Given the description of an element on the screen output the (x, y) to click on. 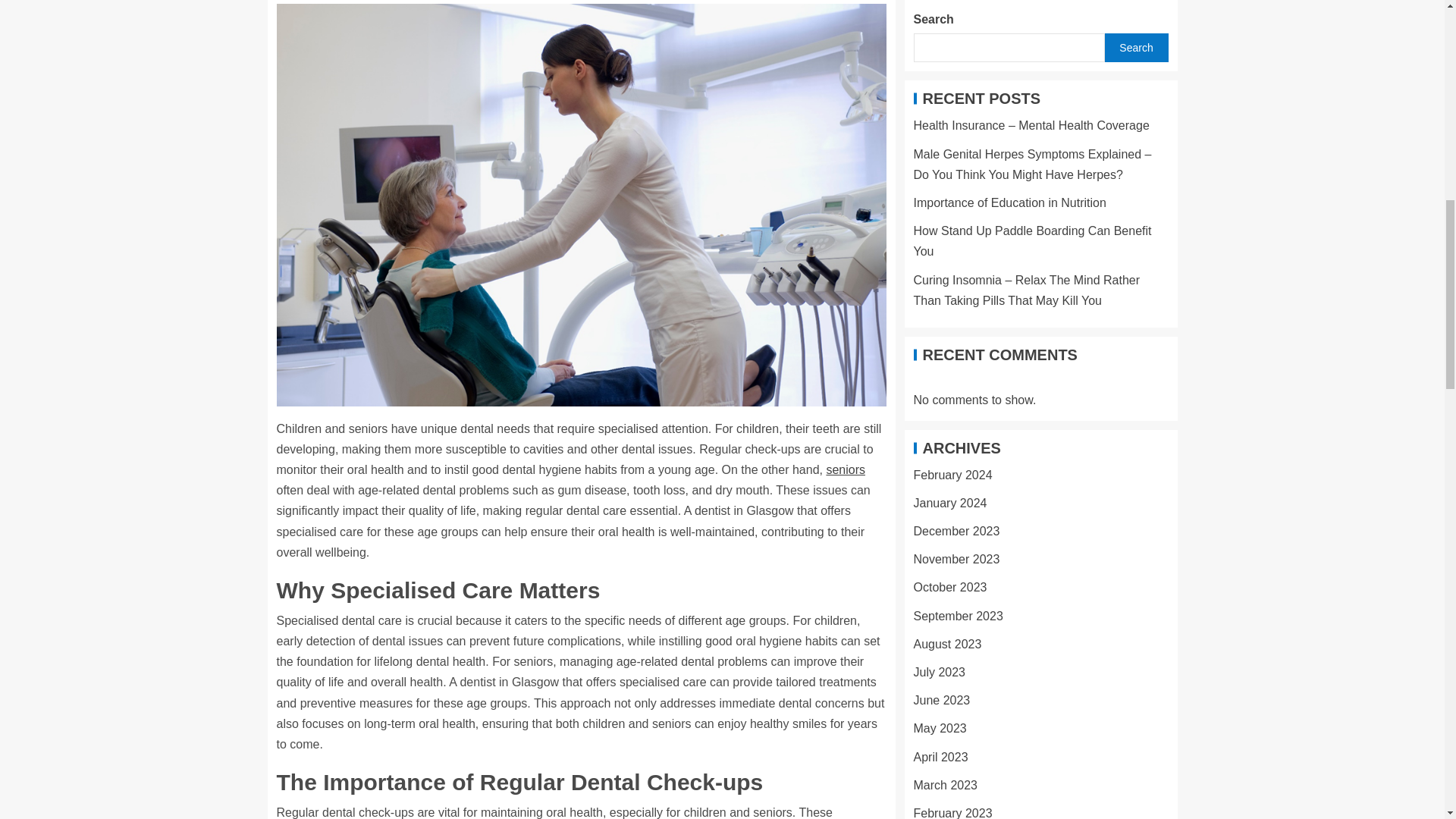
seniors (844, 469)
